Given the description of an element on the screen output the (x, y) to click on. 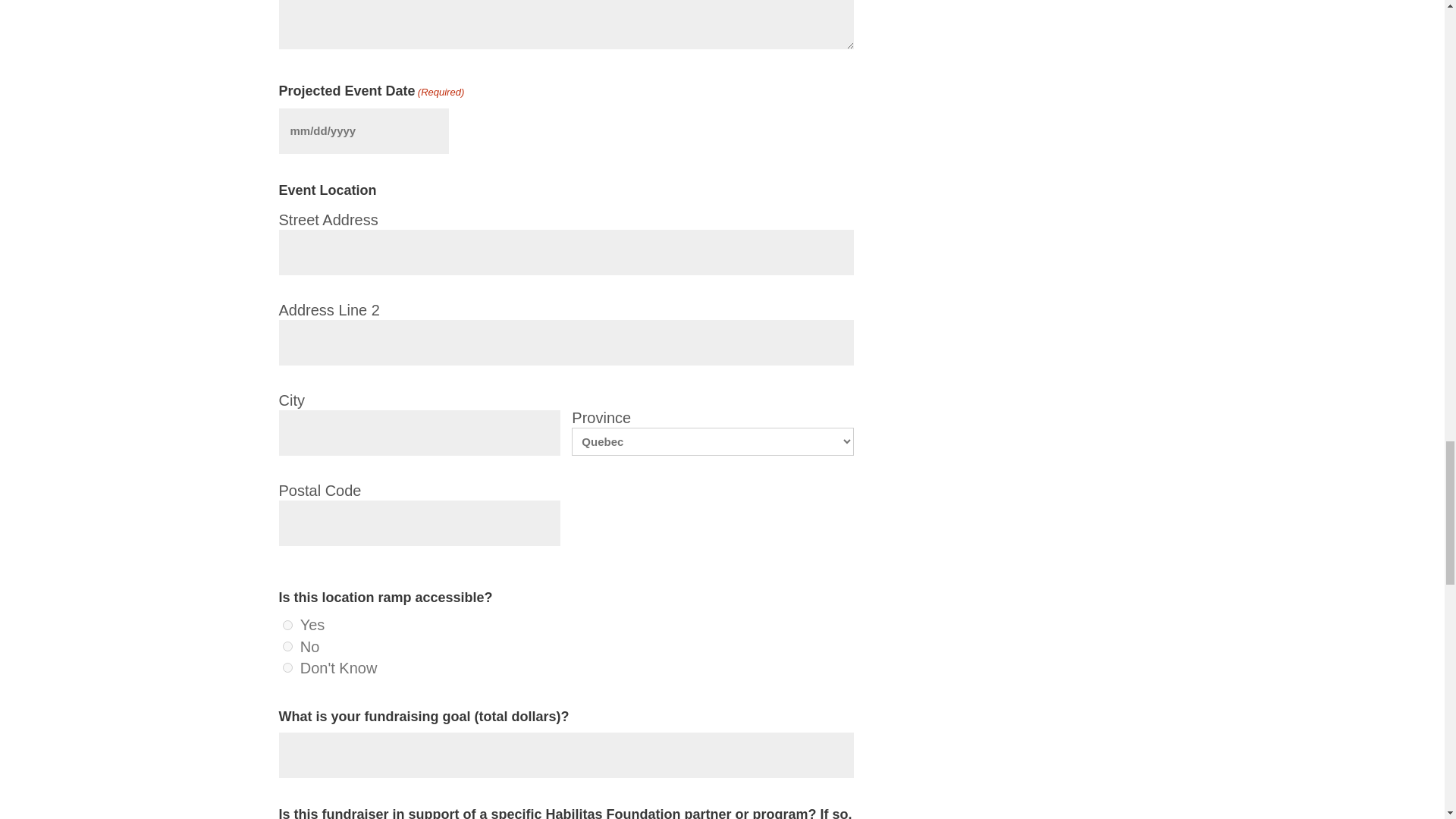
Yes (287, 624)
No (287, 646)
Don't Know (287, 667)
